Given the description of an element on the screen output the (x, y) to click on. 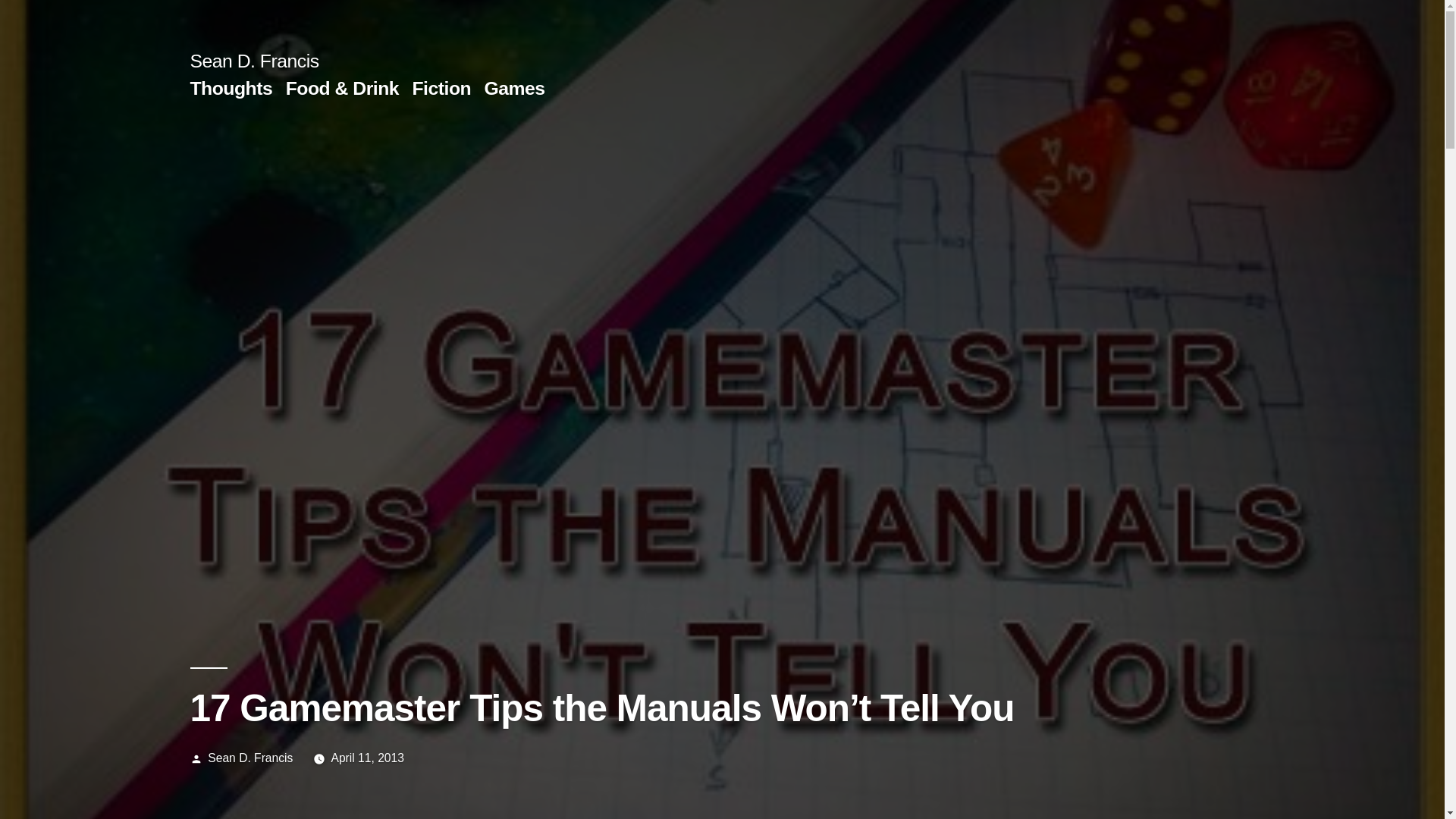
Sean D. Francis (250, 757)
Fiction (441, 87)
April 11, 2013 (366, 757)
Games (514, 87)
Sean D. Francis (253, 60)
Thoughts (230, 87)
